Given the description of an element on the screen output the (x, y) to click on. 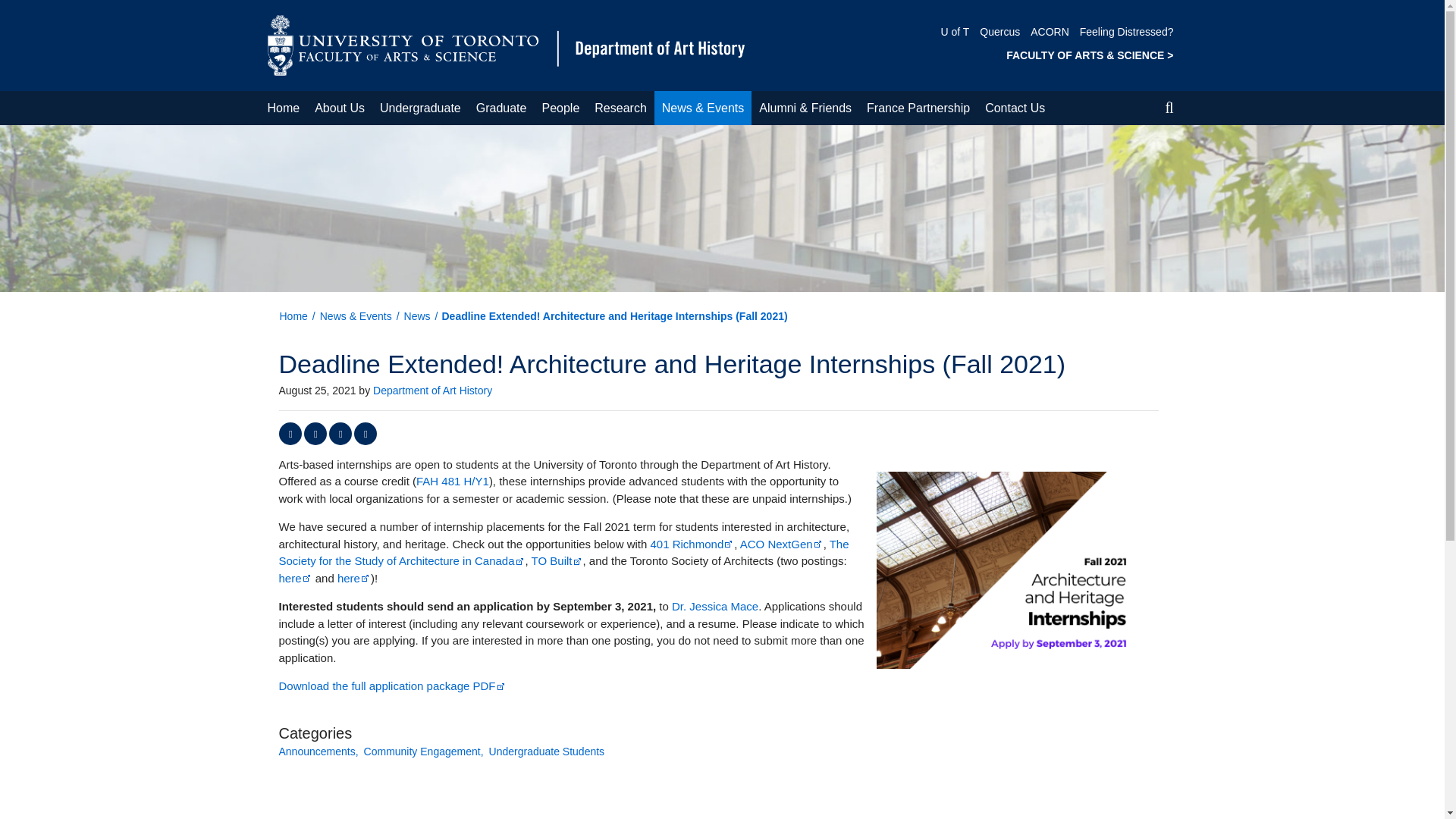
U of T (954, 31)
Home (505, 44)
Undergraduate (420, 107)
ACORN (1049, 31)
Home (283, 107)
Feeling Distressed? (1126, 31)
About Us (339, 107)
Quercus (999, 31)
